Given the description of an element on the screen output the (x, y) to click on. 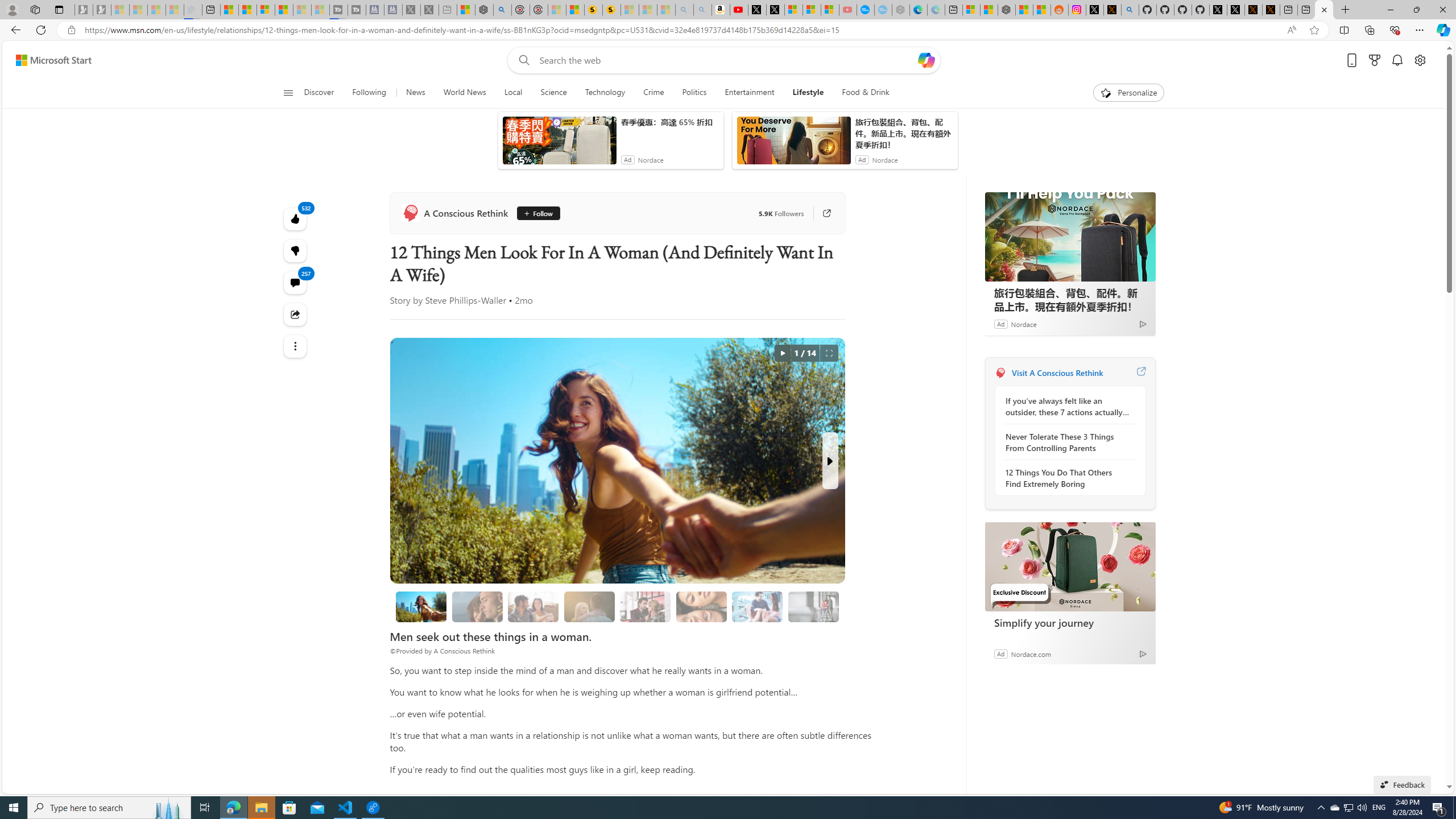
Newsletter Sign Up - Sleeping (102, 9)
View comments 509 Comment (701, 326)
The most popular Google 'how to' searches - Sleeping (865, 9)
Expand background (1430, 756)
See full forecast (1123, 329)
BRAINY DOSE (647, 288)
AutomationID: tab-14 (438, 328)
Chaisaeng Palace Hotel (1077, 436)
To get missing image descriptions, open the context menu. (529, 109)
How to delete a user account on Windows 11 (807, 307)
View comments 9 Comment (705, 327)
